Given the description of an element on the screen output the (x, y) to click on. 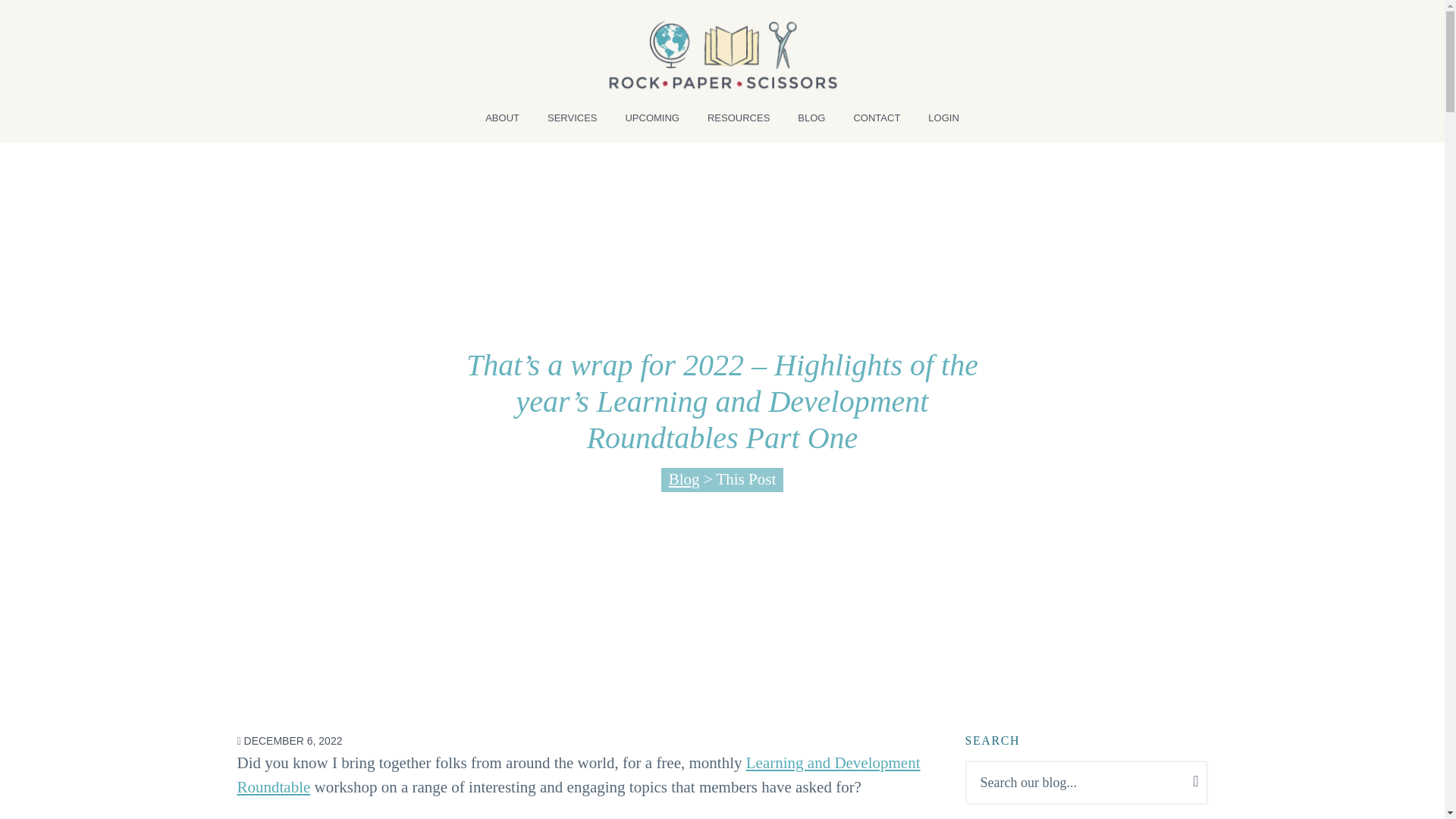
Blog (684, 479)
BLOG (812, 122)
RESOURCES (739, 122)
CONTACT (876, 122)
ROCK PAPER SCISSORS (310, 109)
ABOUT (502, 122)
LOGIN (943, 122)
SERVICES (572, 122)
UPCOMING (651, 122)
